Given the description of an element on the screen output the (x, y) to click on. 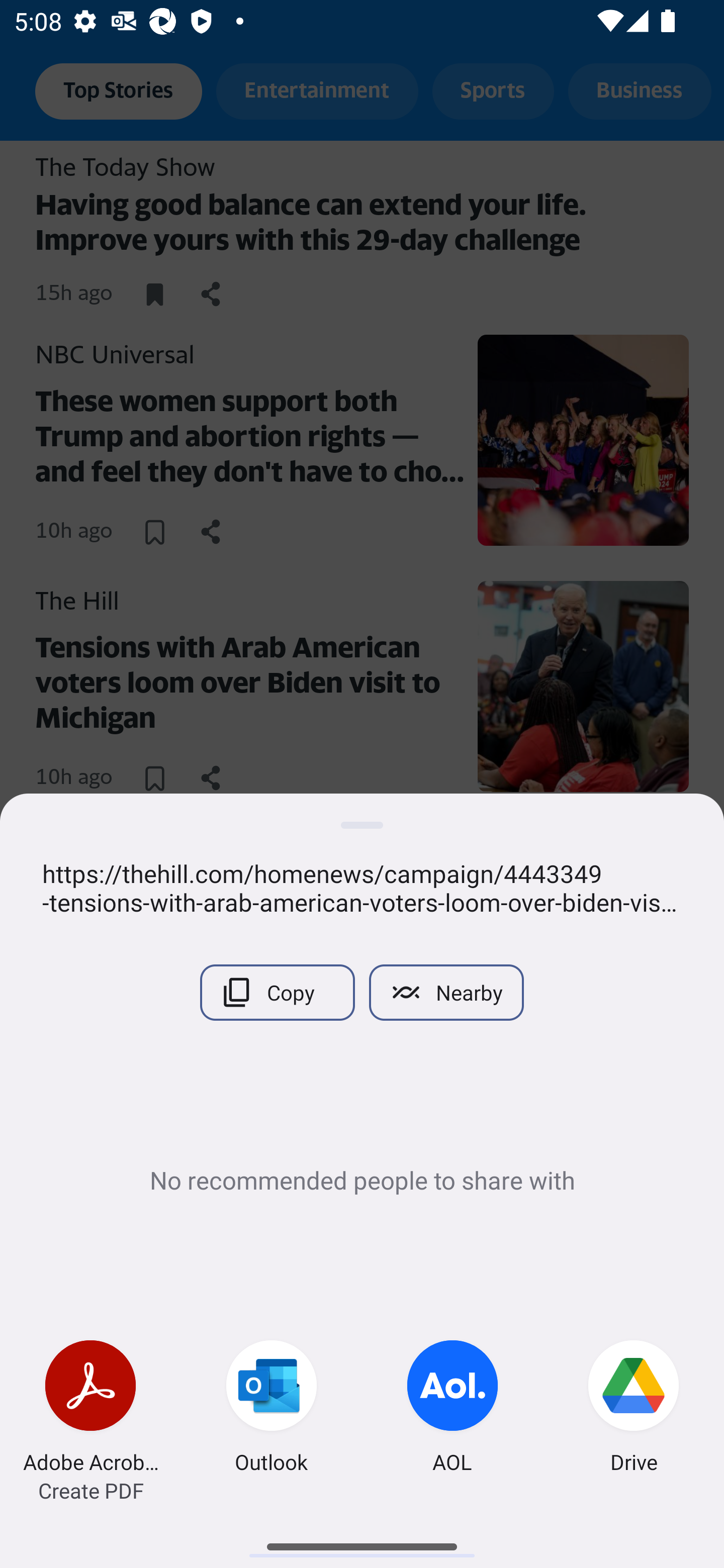
Copy (276, 992)
Nearby (446, 992)
Adobe Acrobat Create PDF (90, 1409)
Outlook (271, 1409)
AOL (452, 1409)
Drive (633, 1409)
